Given the description of an element on the screen output the (x, y) to click on. 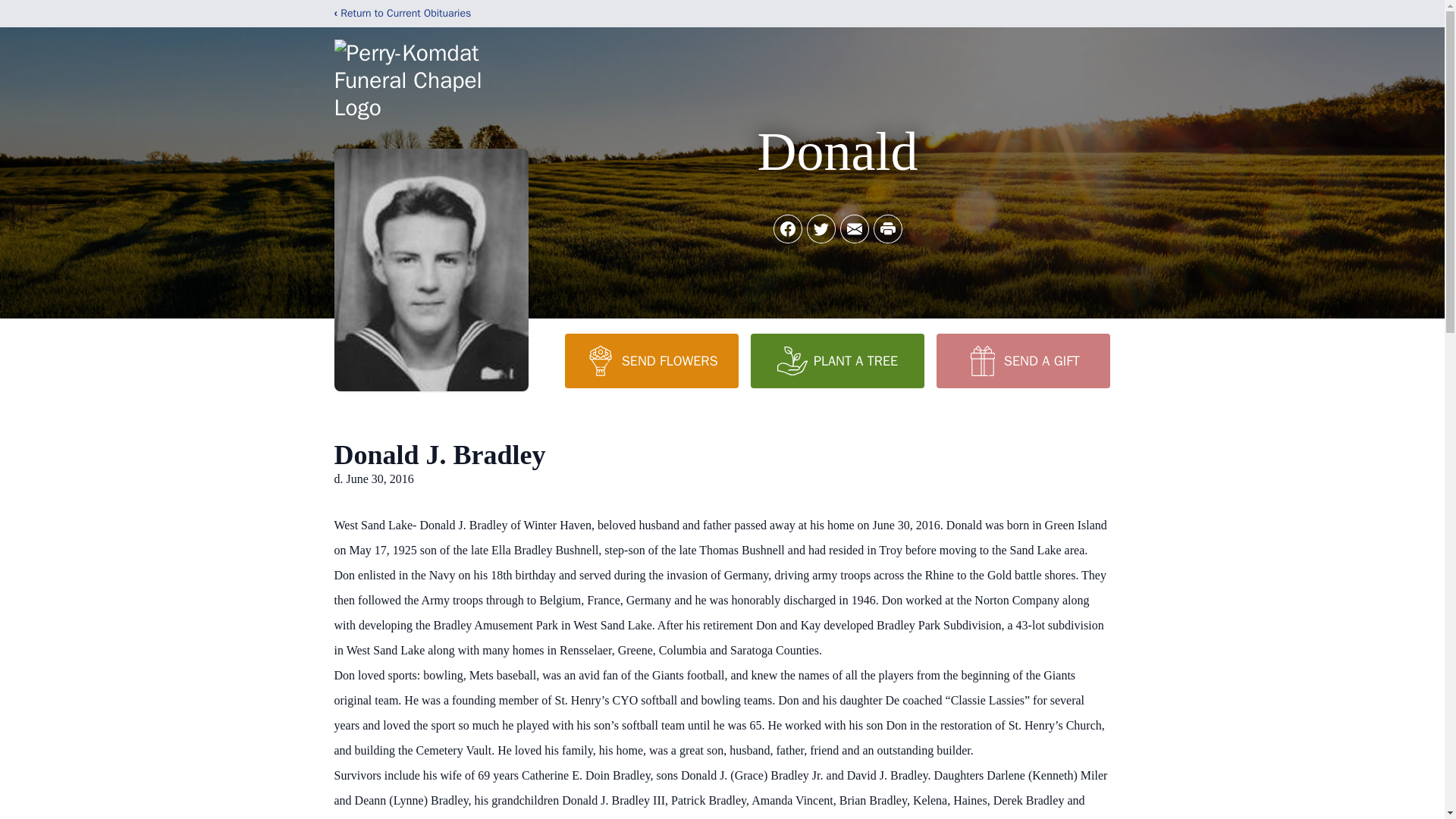
SEND FLOWERS (651, 360)
PLANT A TREE (837, 360)
SEND A GIFT (1022, 360)
